Given the description of an element on the screen output the (x, y) to click on. 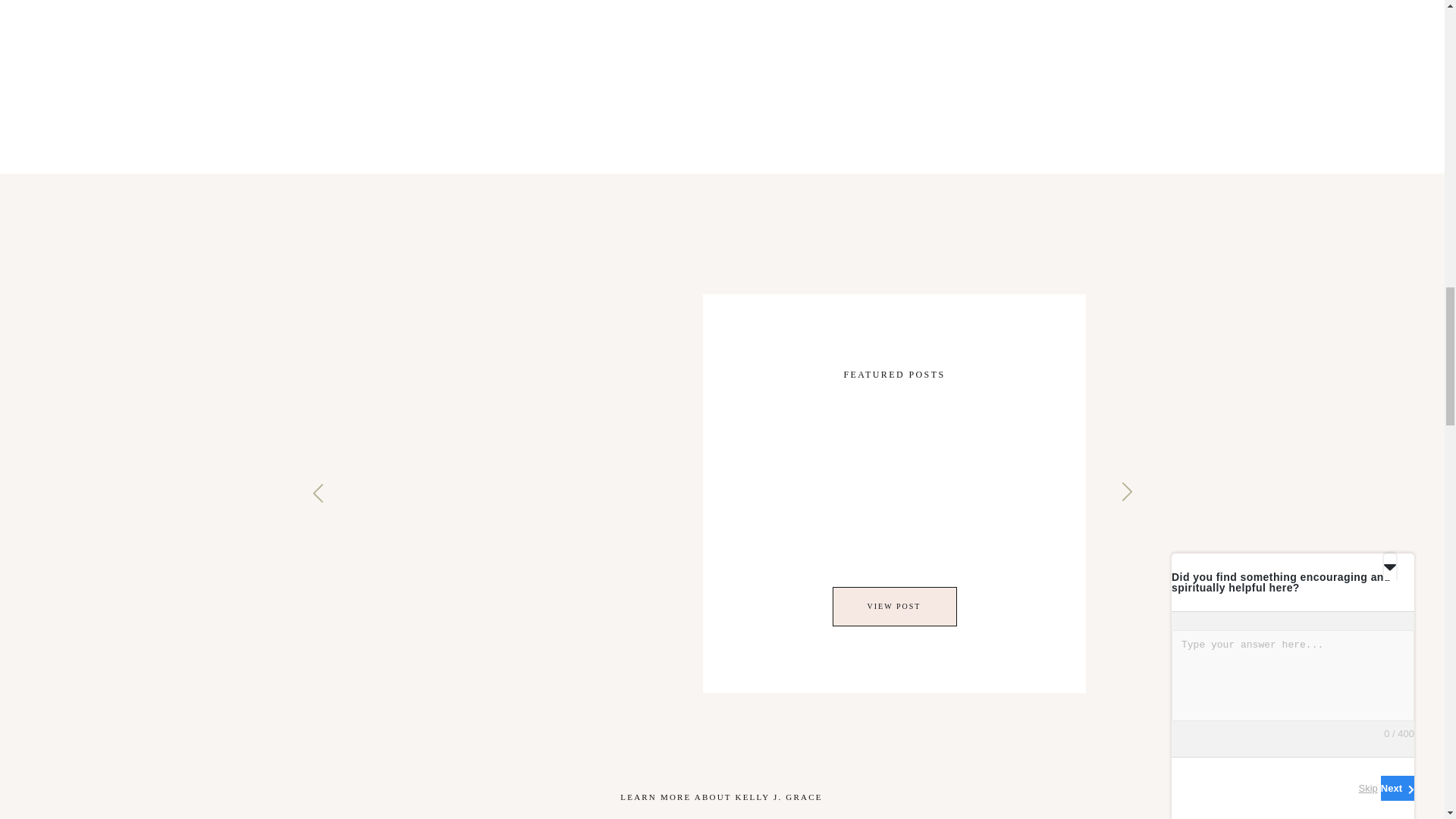
FEATURED POSTS (895, 375)
VIEW POST (894, 605)
LEARN MORE ABOUT KELLY J. GRACE (721, 799)
